Given the description of an element on the screen output the (x, y) to click on. 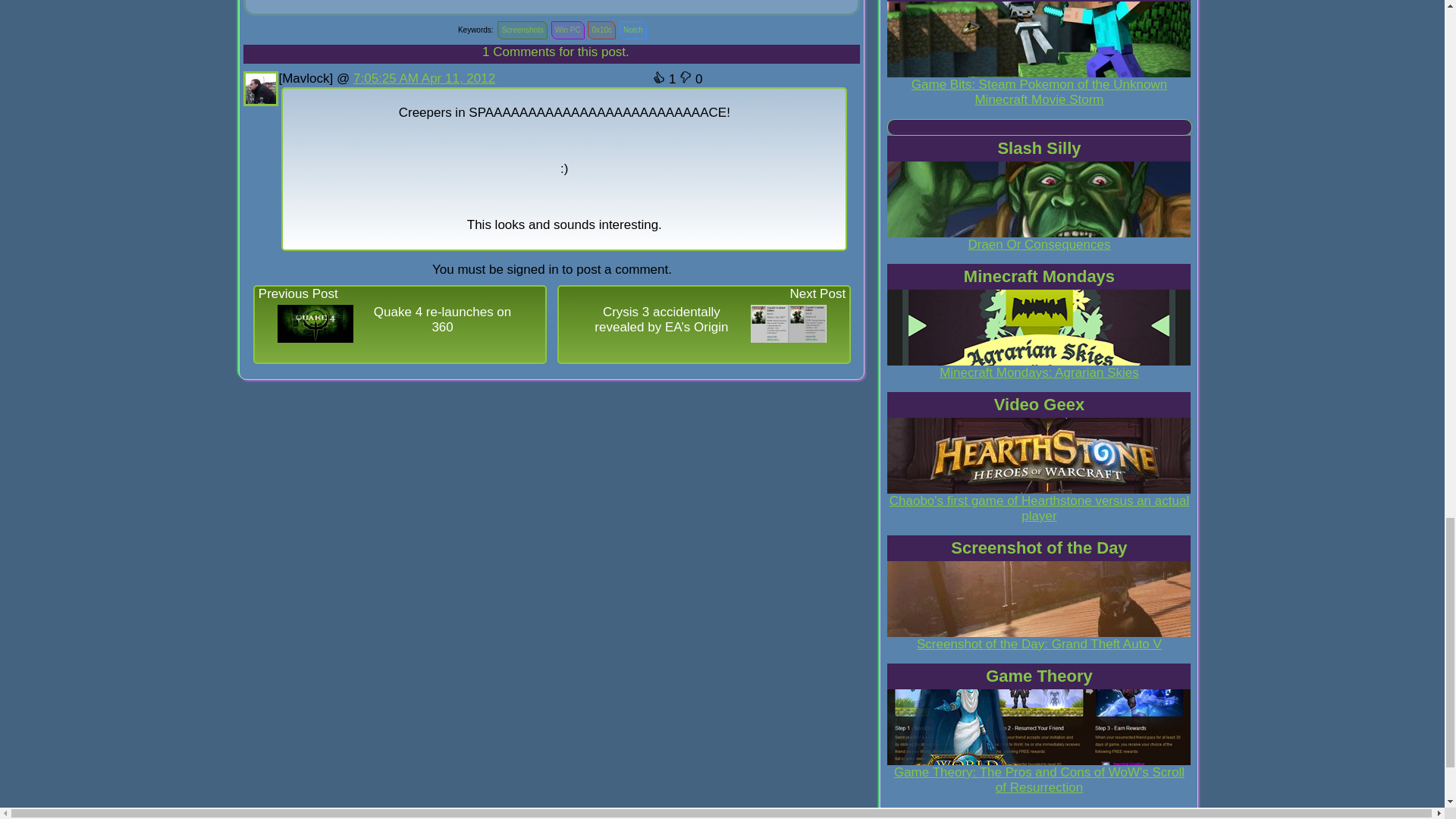
Screenshots (521, 29)
0x10c (601, 29)
Win PC (567, 29)
Notch (633, 29)
